Given the description of an element on the screen output the (x, y) to click on. 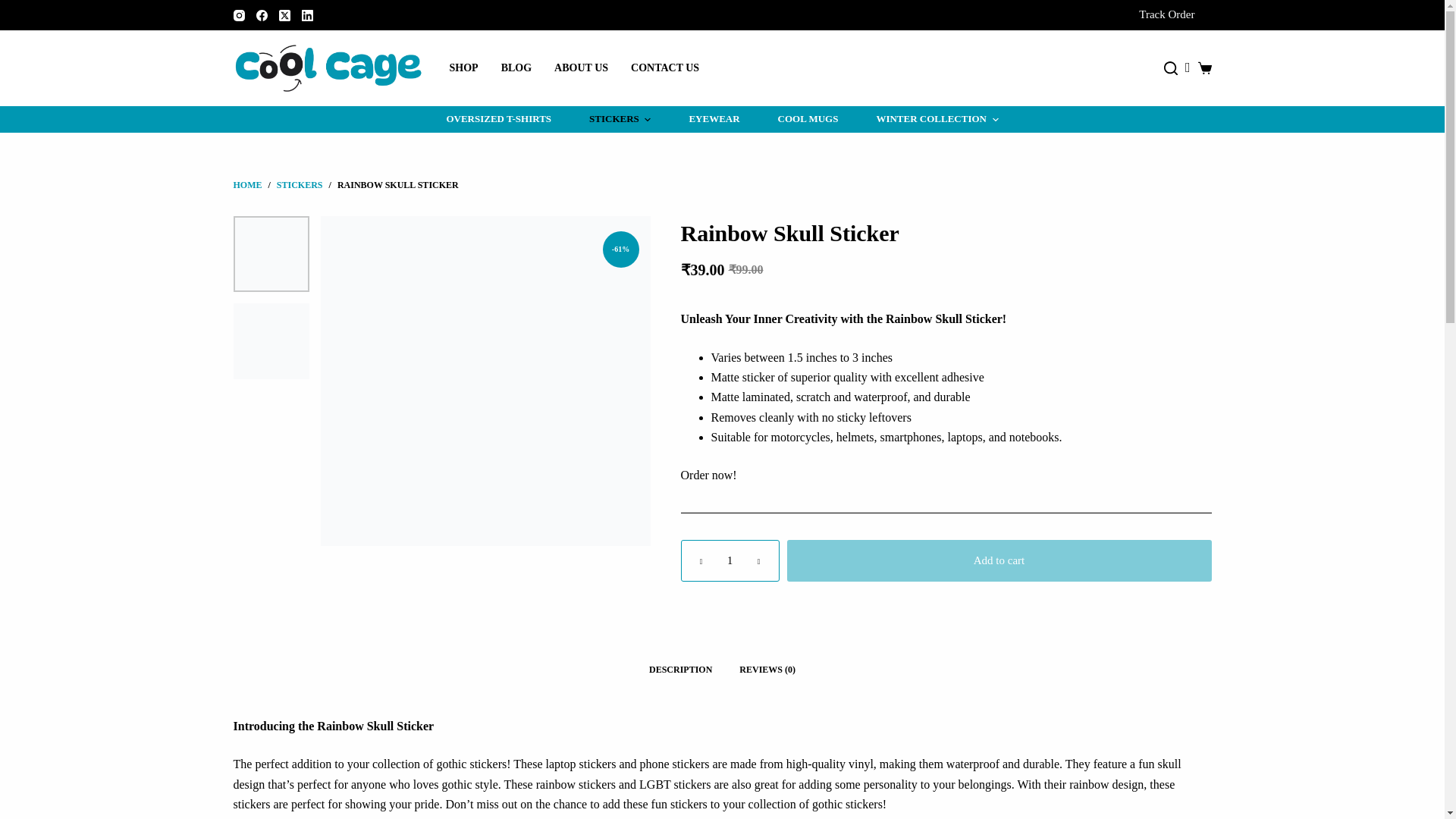
Rainbow Skull Cool Cage Sticker (484, 381)
EYEWEAR (713, 119)
SHOP (463, 67)
BLOG (516, 67)
OVERSIZED T-SHIRTS (507, 119)
WINTER COLLECTION (927, 119)
ABOUT US (581, 67)
Shopping cart (1204, 68)
STICKERS (619, 119)
CONTACT US (665, 67)
